Given the description of an element on the screen output the (x, y) to click on. 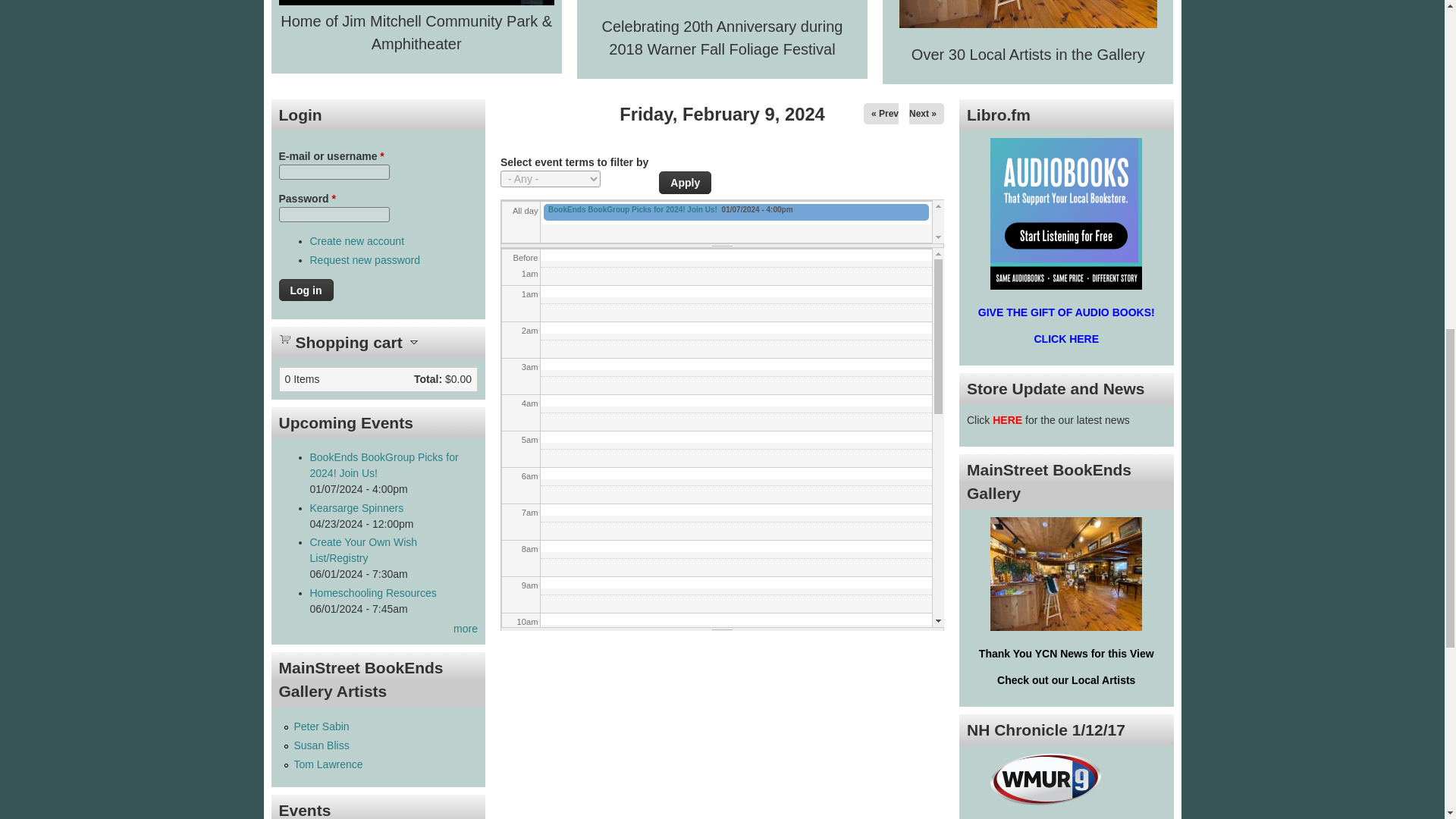
This field is required. (382, 155)
Log in (306, 290)
Navigate to previous day (884, 113)
Navigate to next day (922, 113)
Apply (685, 182)
